Given the description of an element on the screen output the (x, y) to click on. 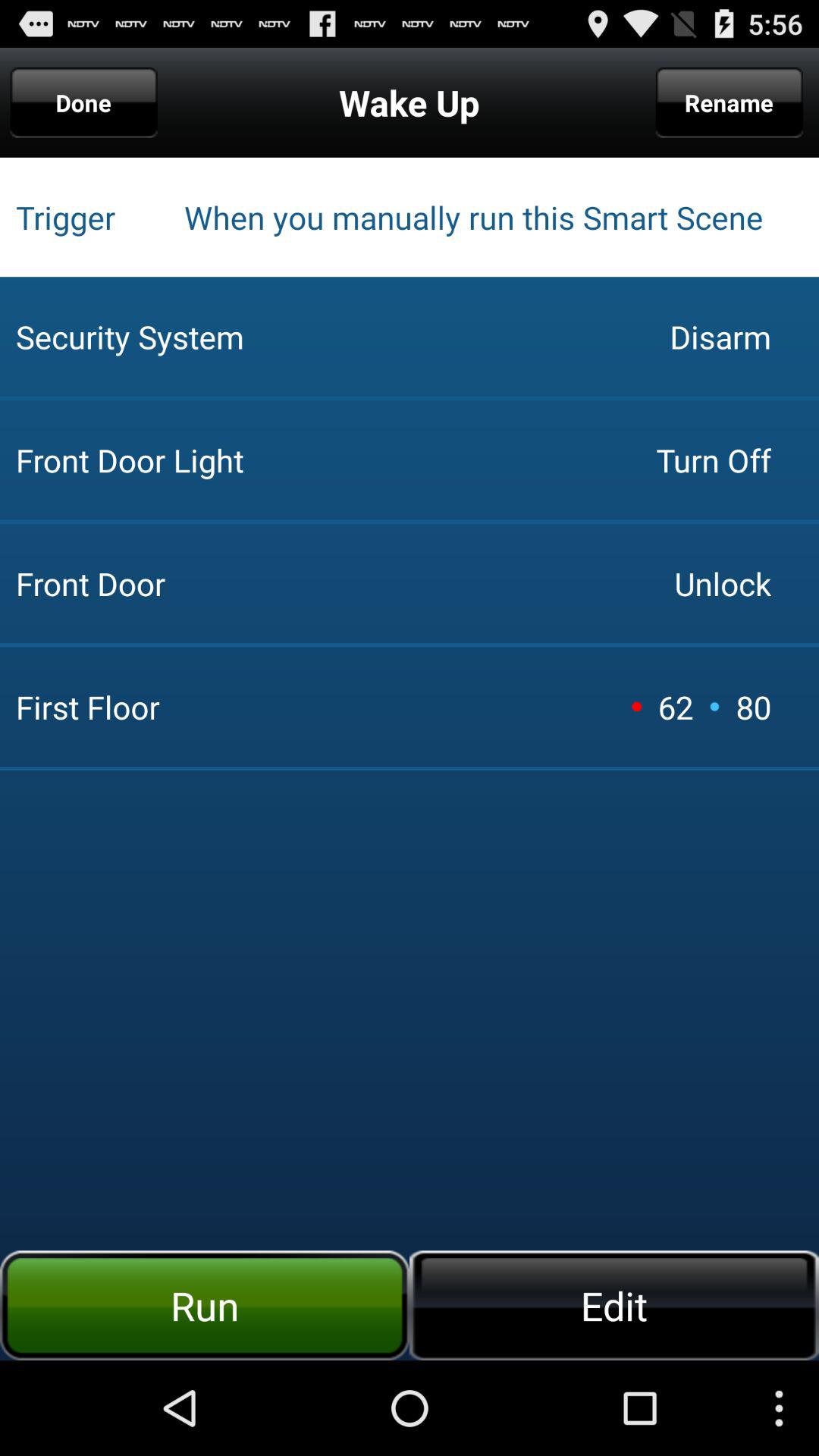
flip to the edit icon (614, 1305)
